Given the description of an element on the screen output the (x, y) to click on. 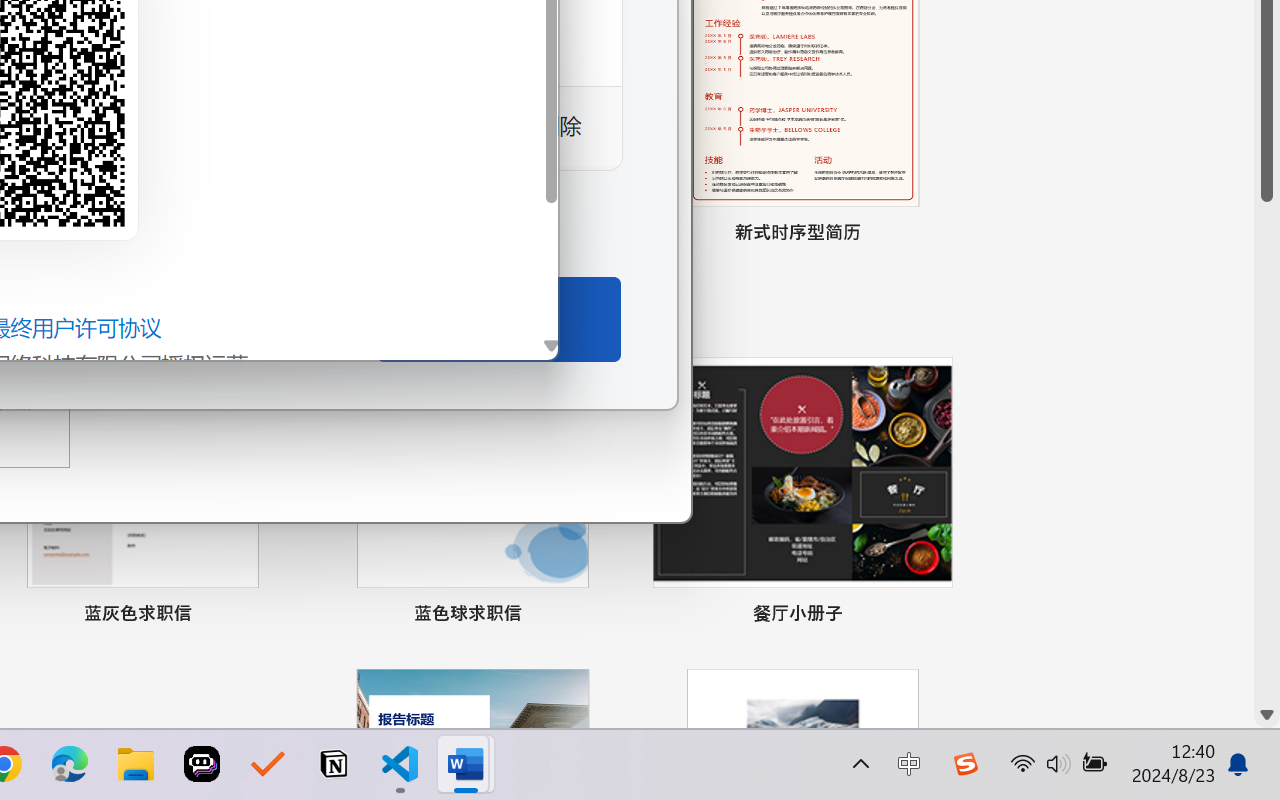
Next Template (648, 85)
Microsoft Edge (69, 764)
Line down (1267, 715)
